Given the description of an element on the screen output the (x, y) to click on. 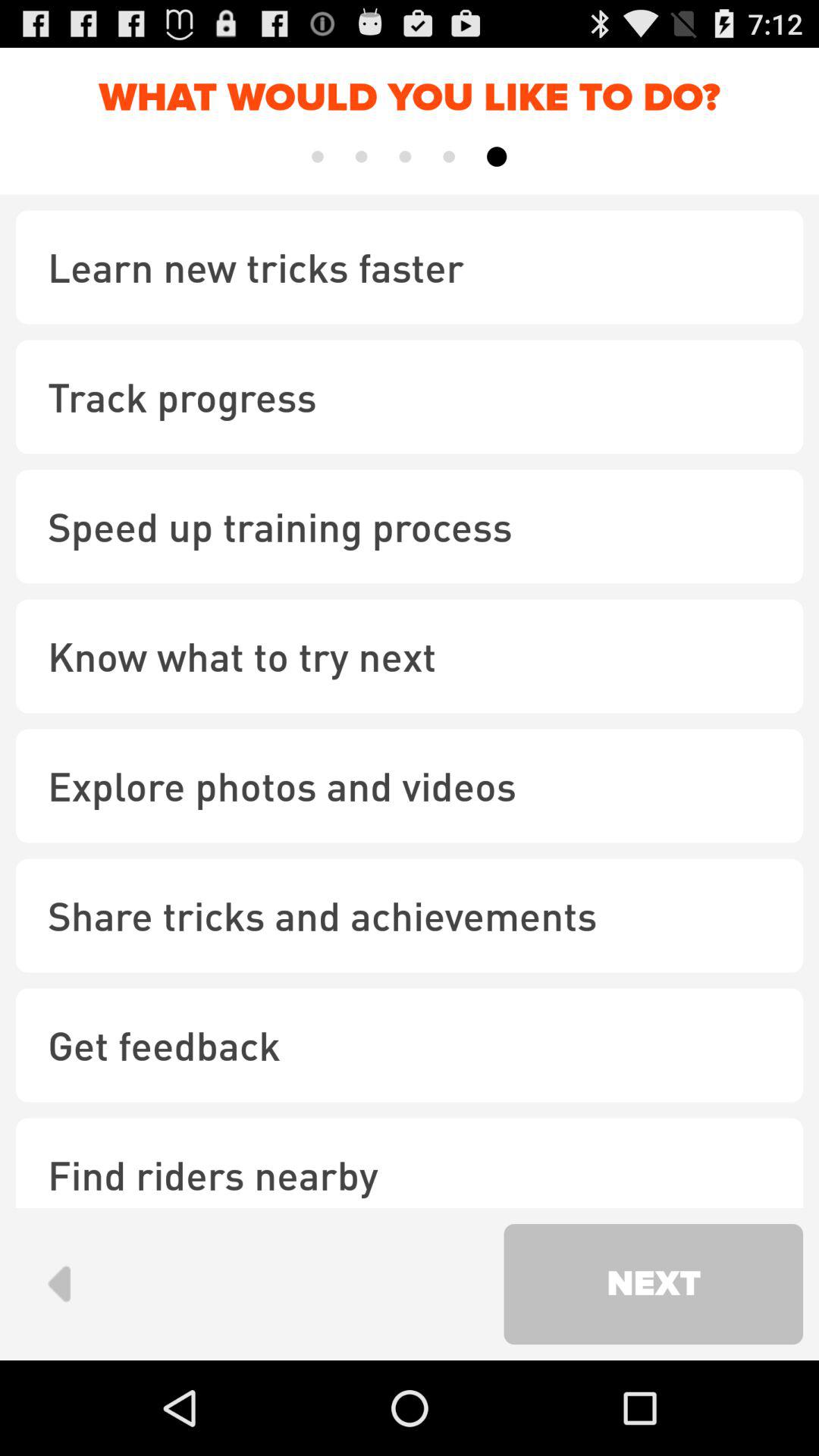
click the get feedback checkbox (409, 1045)
